Given the description of an element on the screen output the (x, y) to click on. 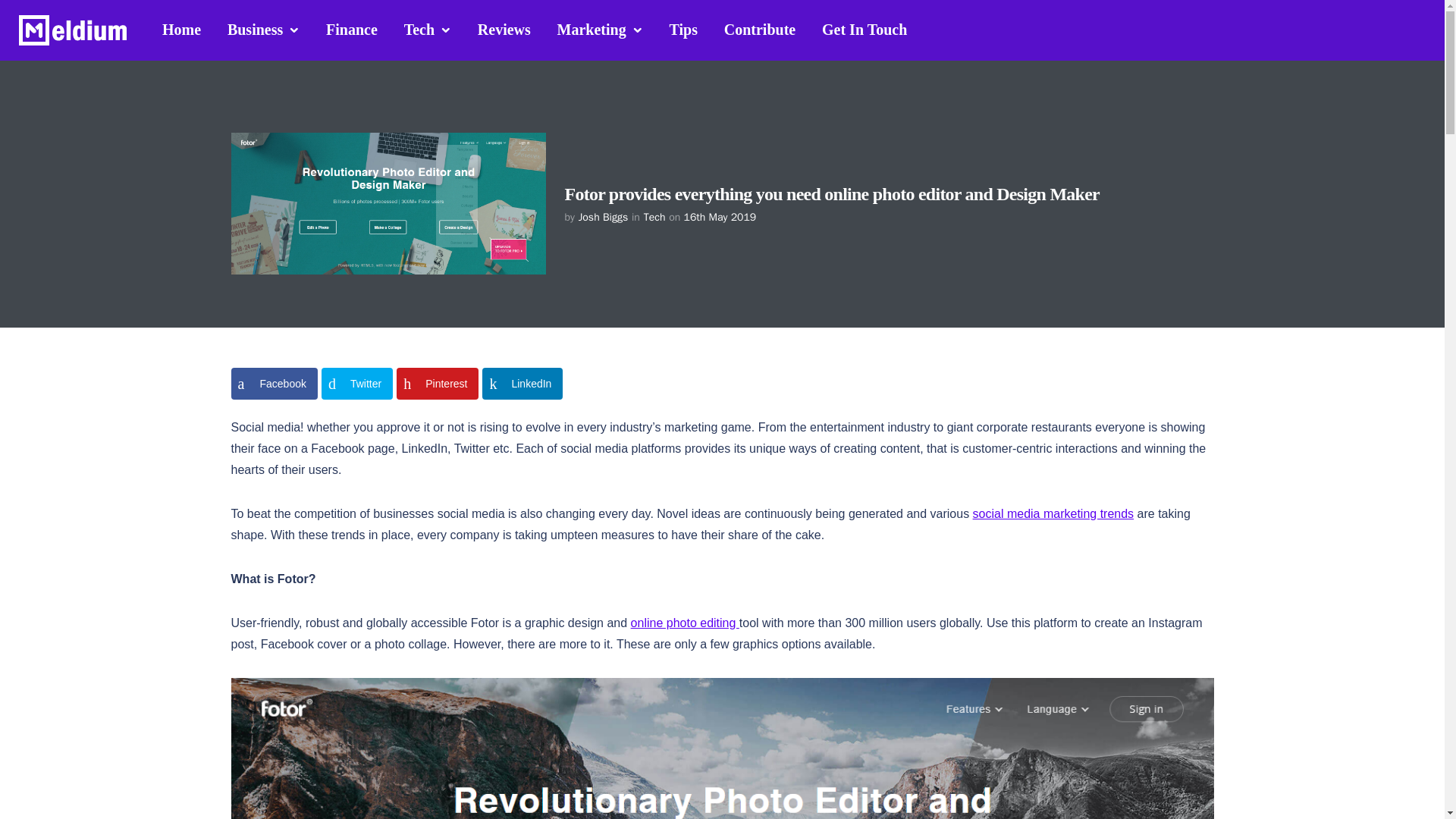
Marketing (599, 29)
Share on LinkedIn (521, 383)
Tech (654, 216)
Share on Facebook (273, 383)
Share on Twitter (357, 383)
Business (263, 29)
Reviews (503, 29)
Contribute (759, 29)
Tech (428, 29)
online photo editing (684, 622)
Pinterest (437, 383)
Finance (351, 29)
LinkedIn (521, 383)
Share on Pinterest (437, 383)
Home (181, 29)
